Given the description of an element on the screen output the (x, y) to click on. 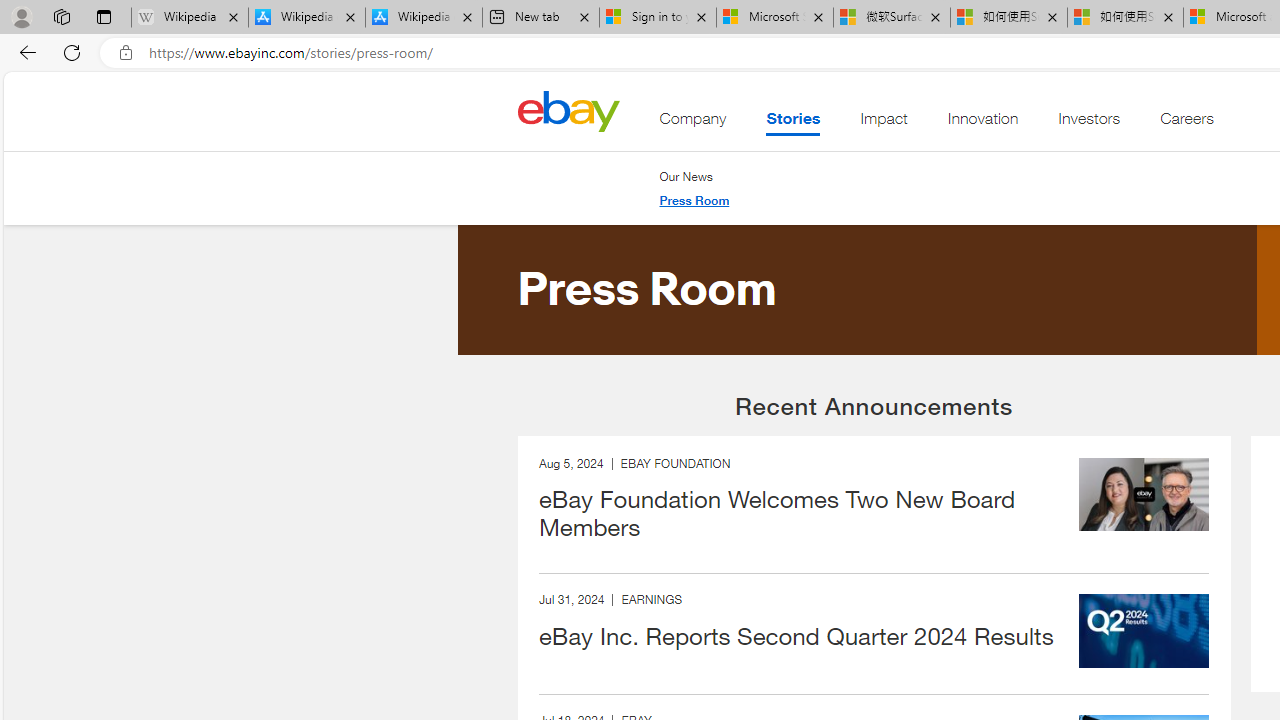
Stories (792, 123)
Investors (1089, 123)
Q2 2024 Results (1144, 631)
Investors (1089, 123)
Our News (685, 176)
Careers (1186, 123)
Innovation (982, 123)
Innovation (982, 123)
